Given the description of an element on the screen output the (x, y) to click on. 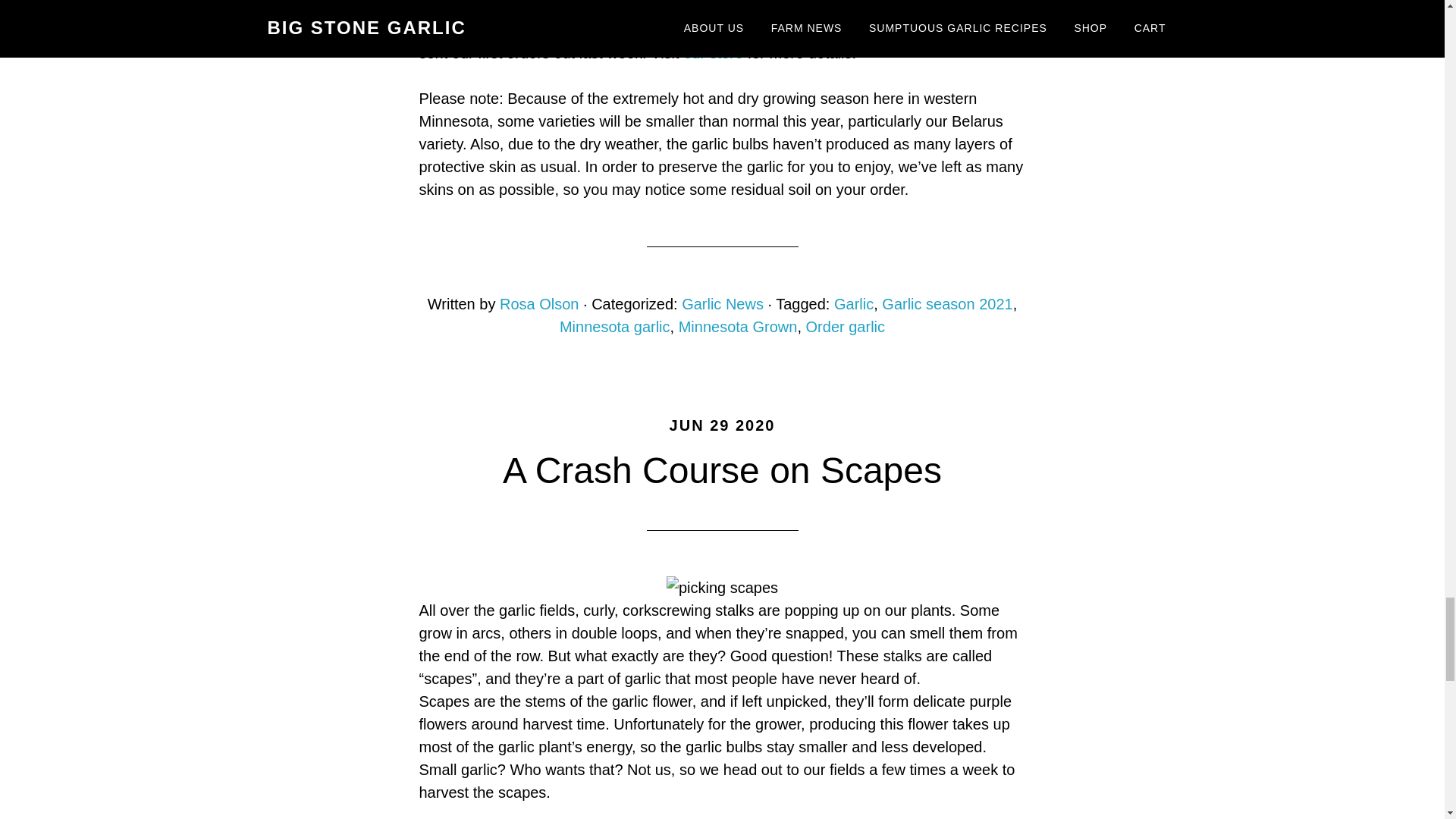
Garlic News (721, 303)
Garlic season 2021 (946, 303)
Rosa Olson (539, 303)
Minnesota garlic (614, 326)
Minnesota Grown (737, 326)
our store (712, 53)
Garlic (853, 303)
